Given the description of an element on the screen output the (x, y) to click on. 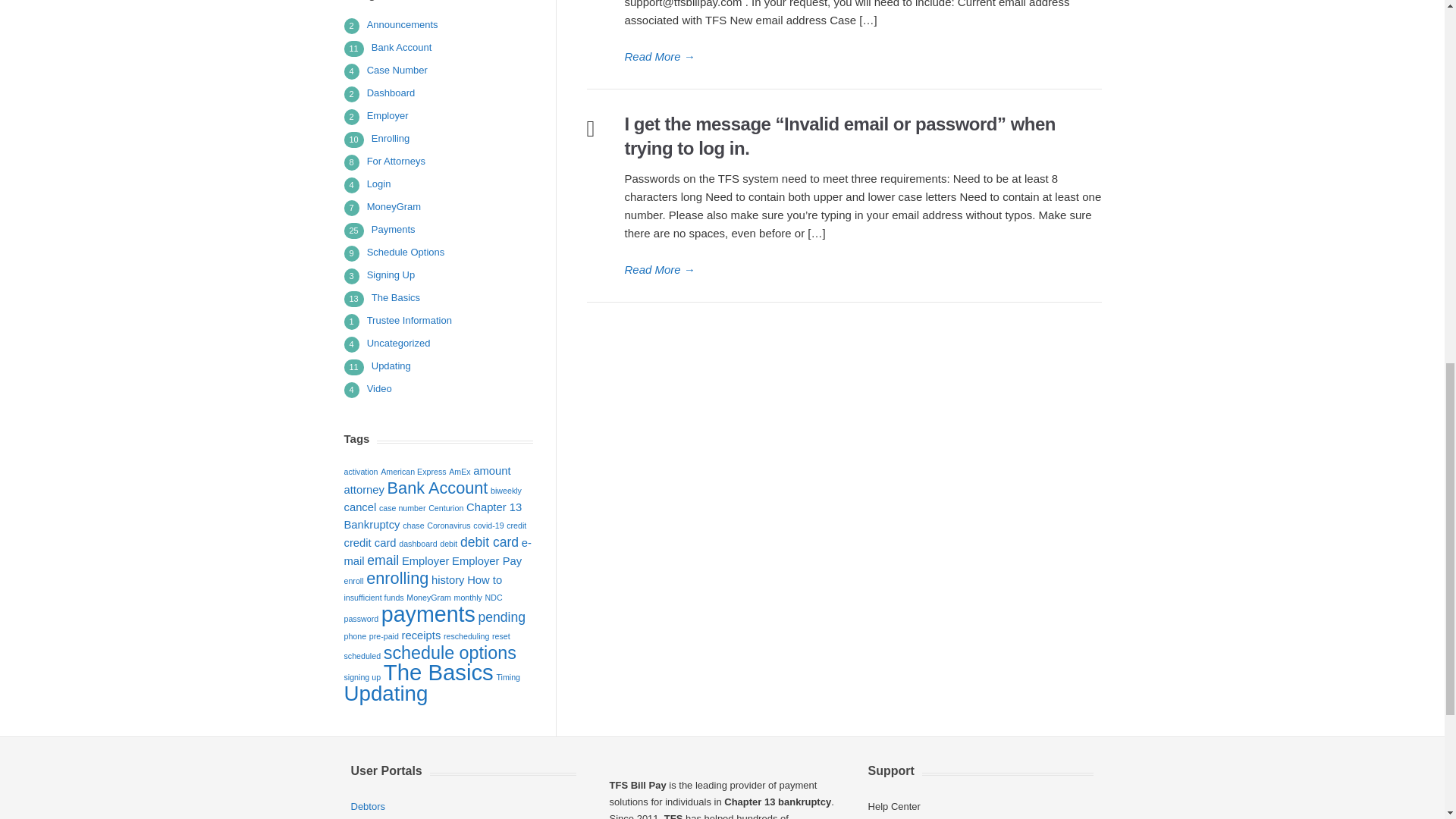
Bank Account (401, 47)
For Attorneys (395, 161)
Login (378, 183)
Case Number (397, 70)
Dashboard (390, 92)
Enrolling (390, 138)
Announcements (402, 24)
Employer (387, 115)
